Given the description of an element on the screen output the (x, y) to click on. 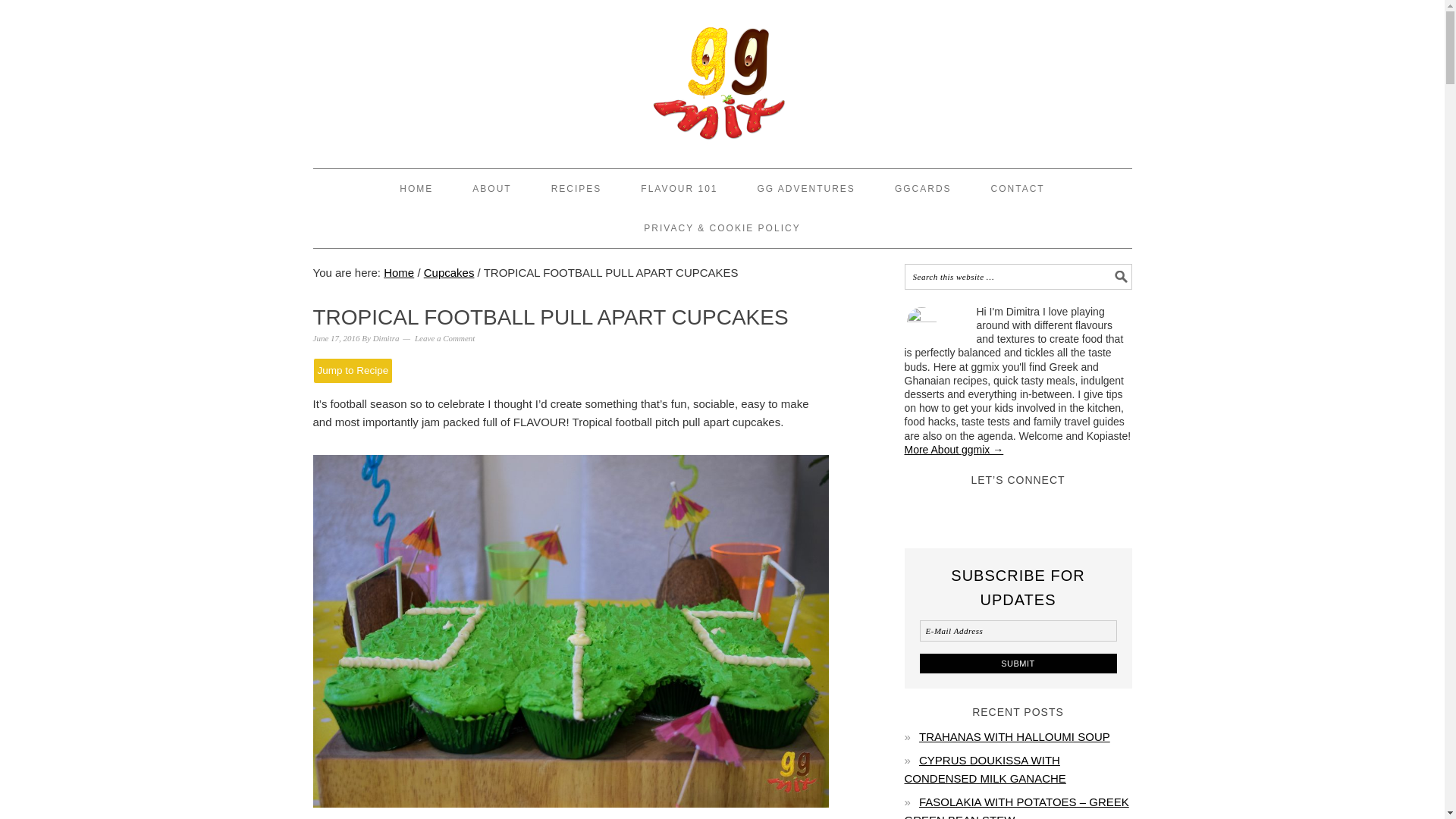
ABOUT (490, 188)
Dimitra (385, 338)
RECIPES (576, 188)
Leave a Comment (444, 338)
Home (398, 272)
GG ADVENTURES (806, 188)
GGMIX (722, 77)
Cupcakes (448, 272)
FLAVOUR 101 (678, 188)
